Given the description of an element on the screen output the (x, y) to click on. 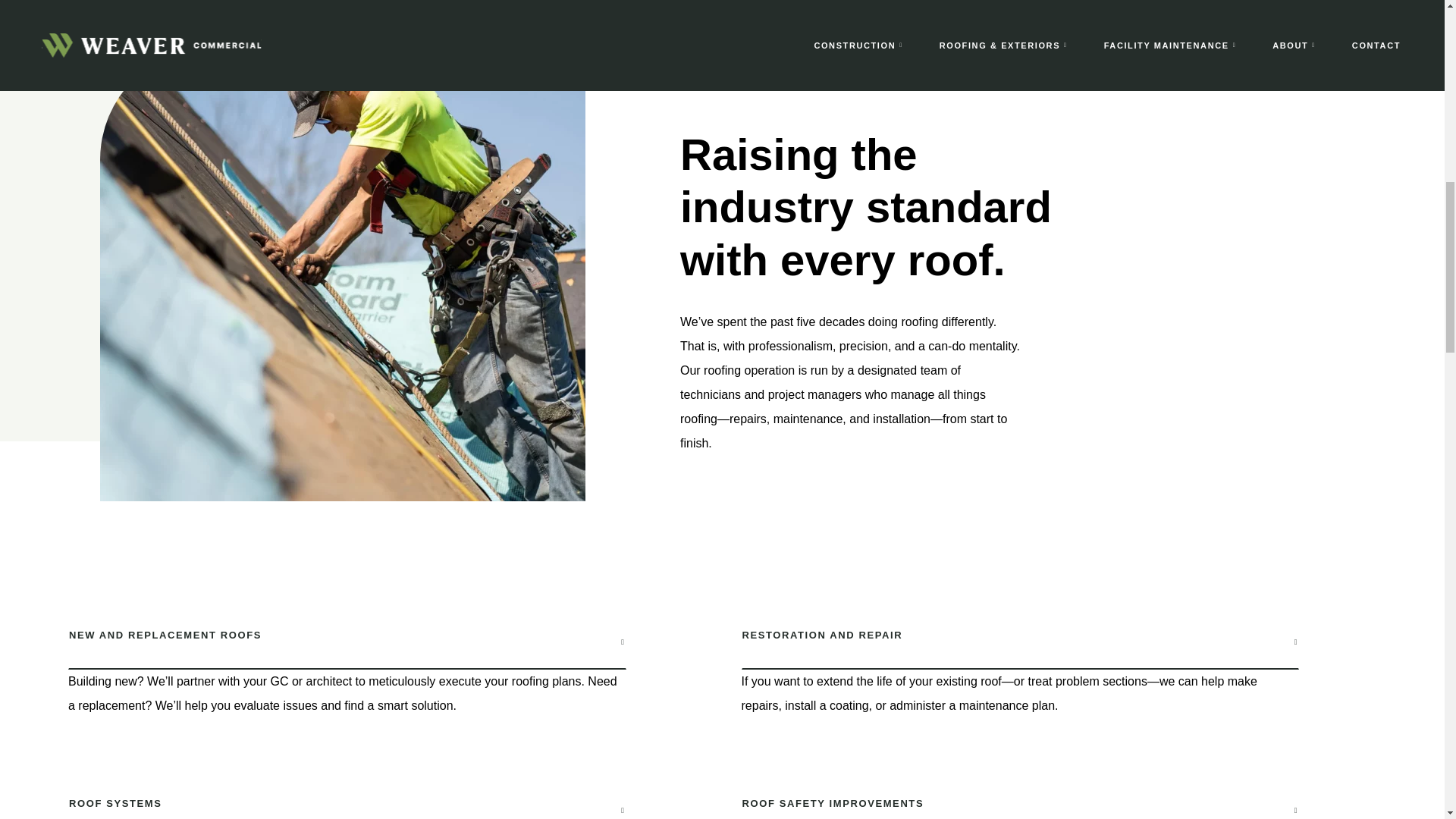
ROOF SYSTEMS (347, 798)
ROOF SAFETY IMPROVEMENTS (1020, 798)
RESTORATION AND REPAIR (1020, 639)
NEW AND REPLACEMENT ROOFS (347, 639)
